Given the description of an element on the screen output the (x, y) to click on. 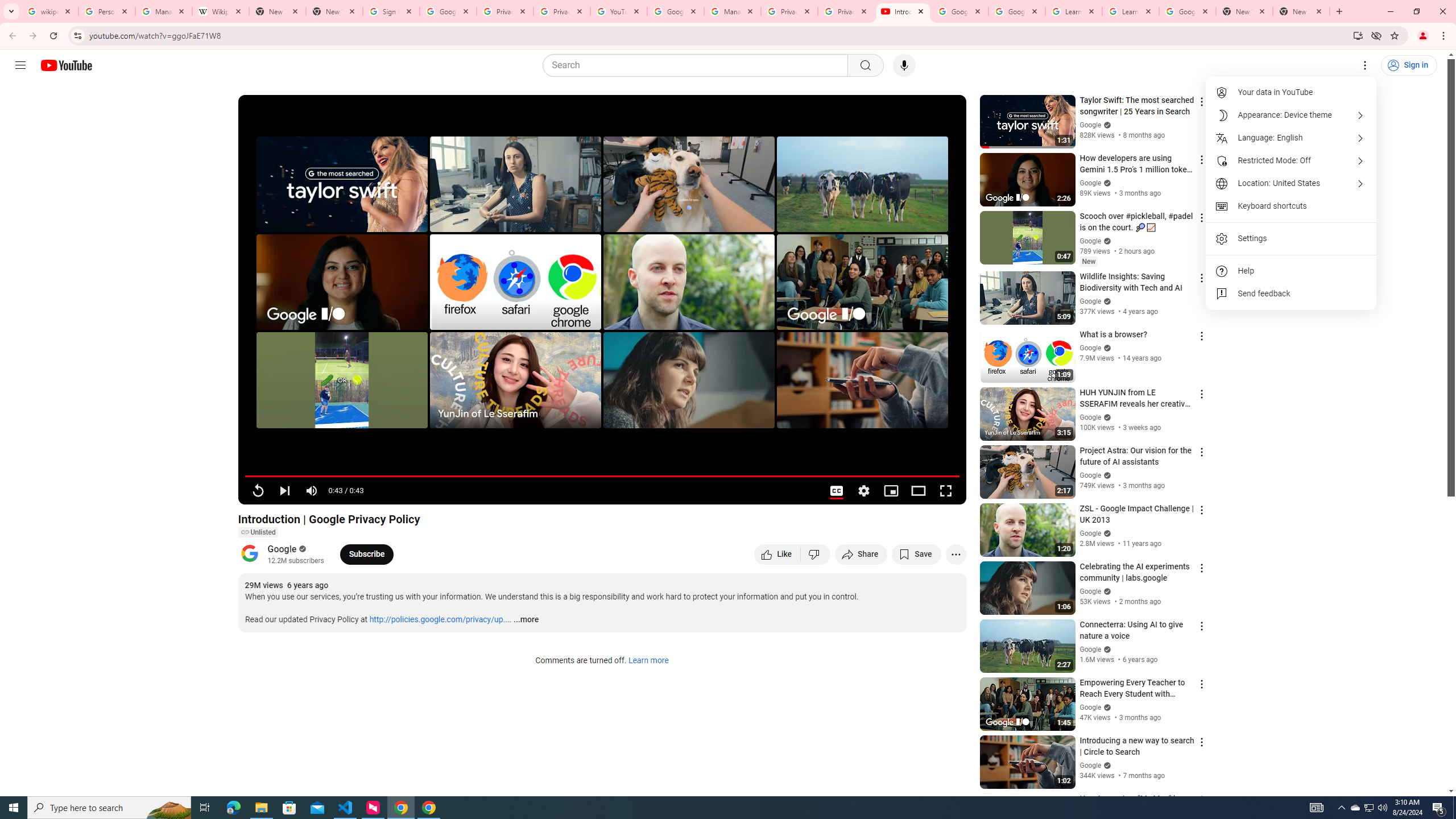
New Tab (1244, 11)
Install YouTube (1358, 35)
Mute (m) (312, 490)
New Tab (334, 11)
Restricted Mode: Off (1291, 160)
Search with your voice (903, 65)
